Given the description of an element on the screen output the (x, y) to click on. 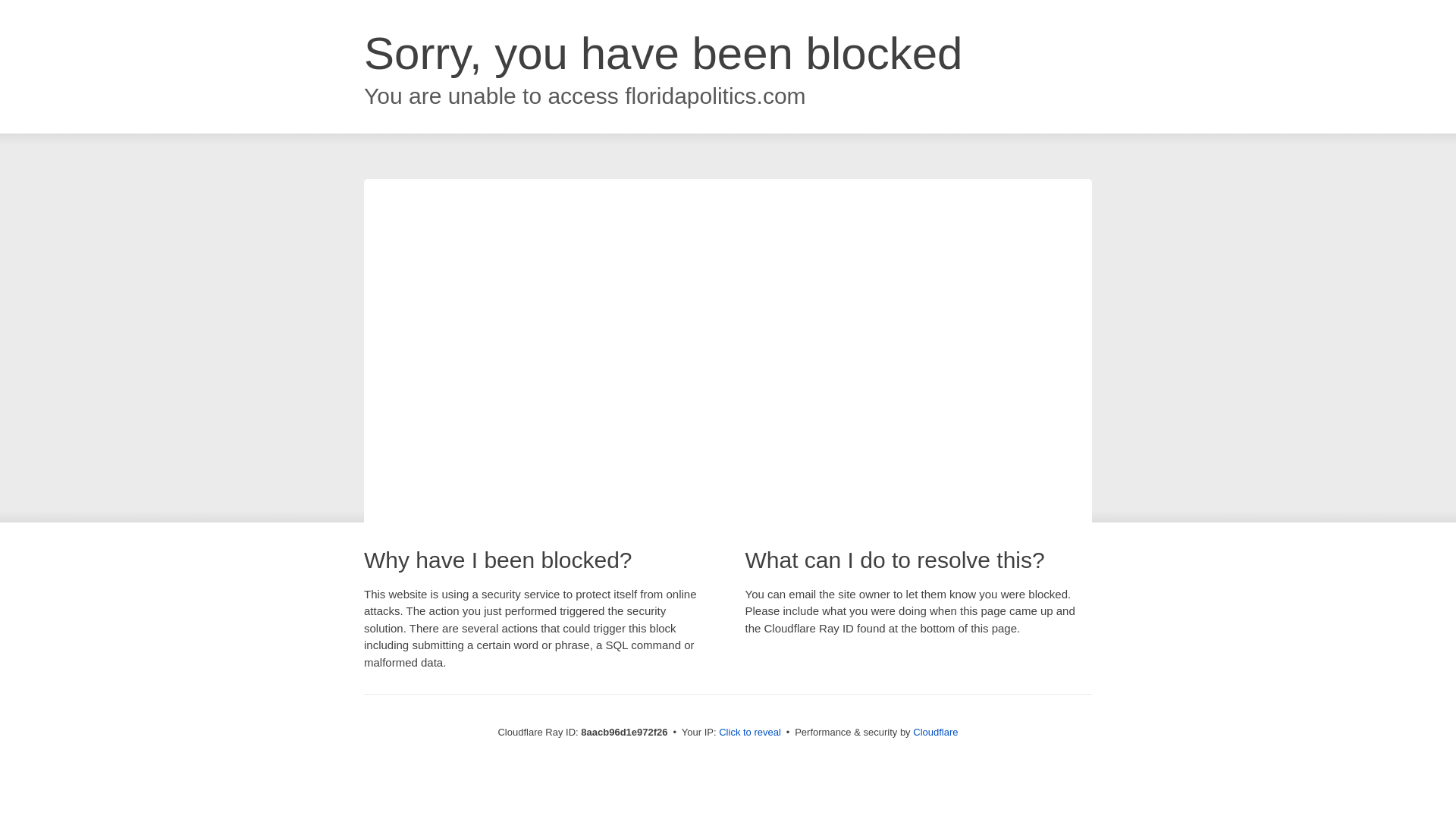
Cloudflare (935, 731)
Click to reveal (749, 732)
